Given the description of an element on the screen output the (x, y) to click on. 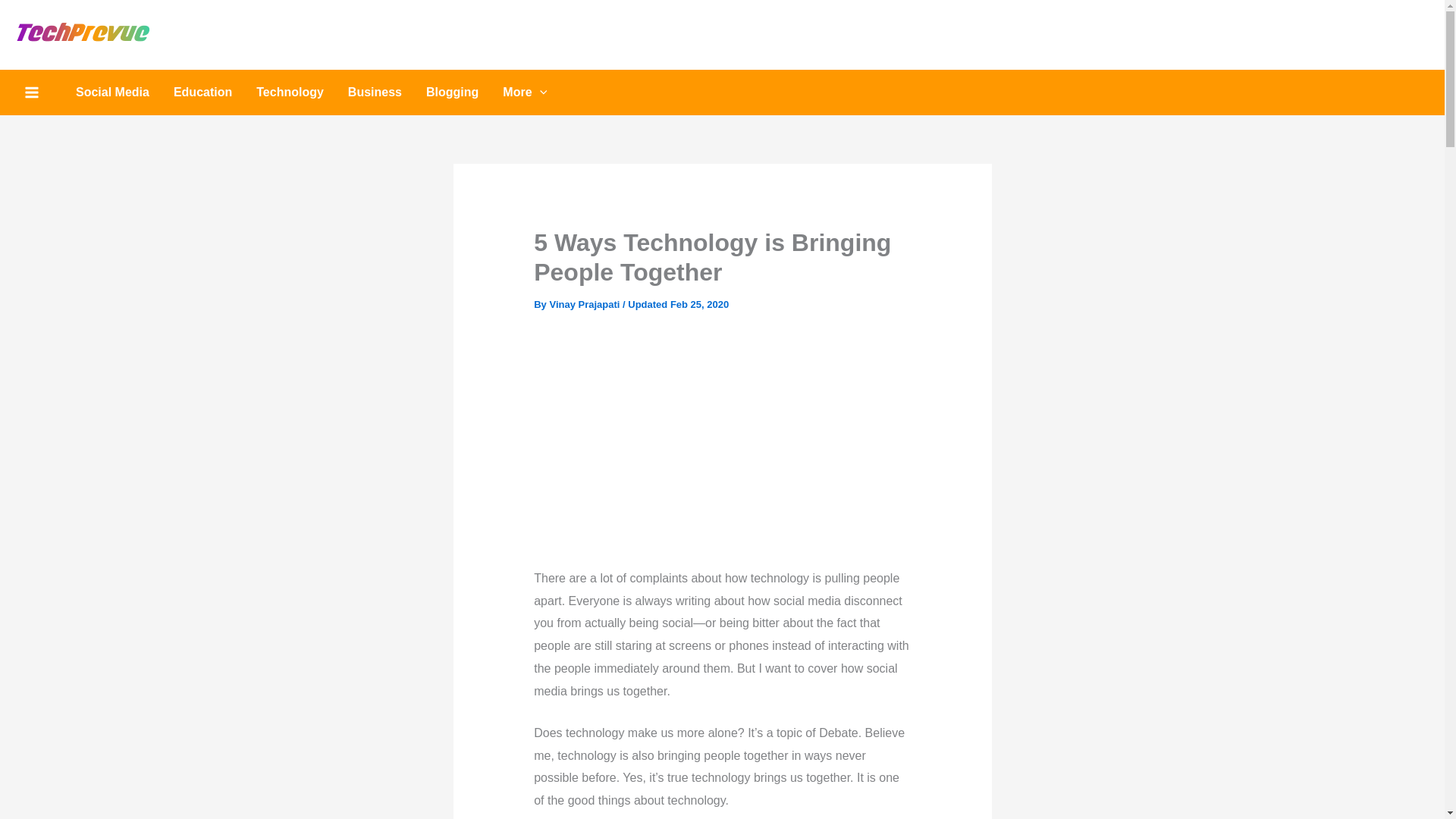
Education (202, 92)
More (524, 92)
Blogging (451, 92)
Technology (290, 92)
Social Media (112, 92)
Advertisement (772, 442)
Vinay Prajapati (585, 304)
Business (374, 92)
View all posts by Vinay Prajapati (585, 304)
